Given the description of an element on the screen output the (x, y) to click on. 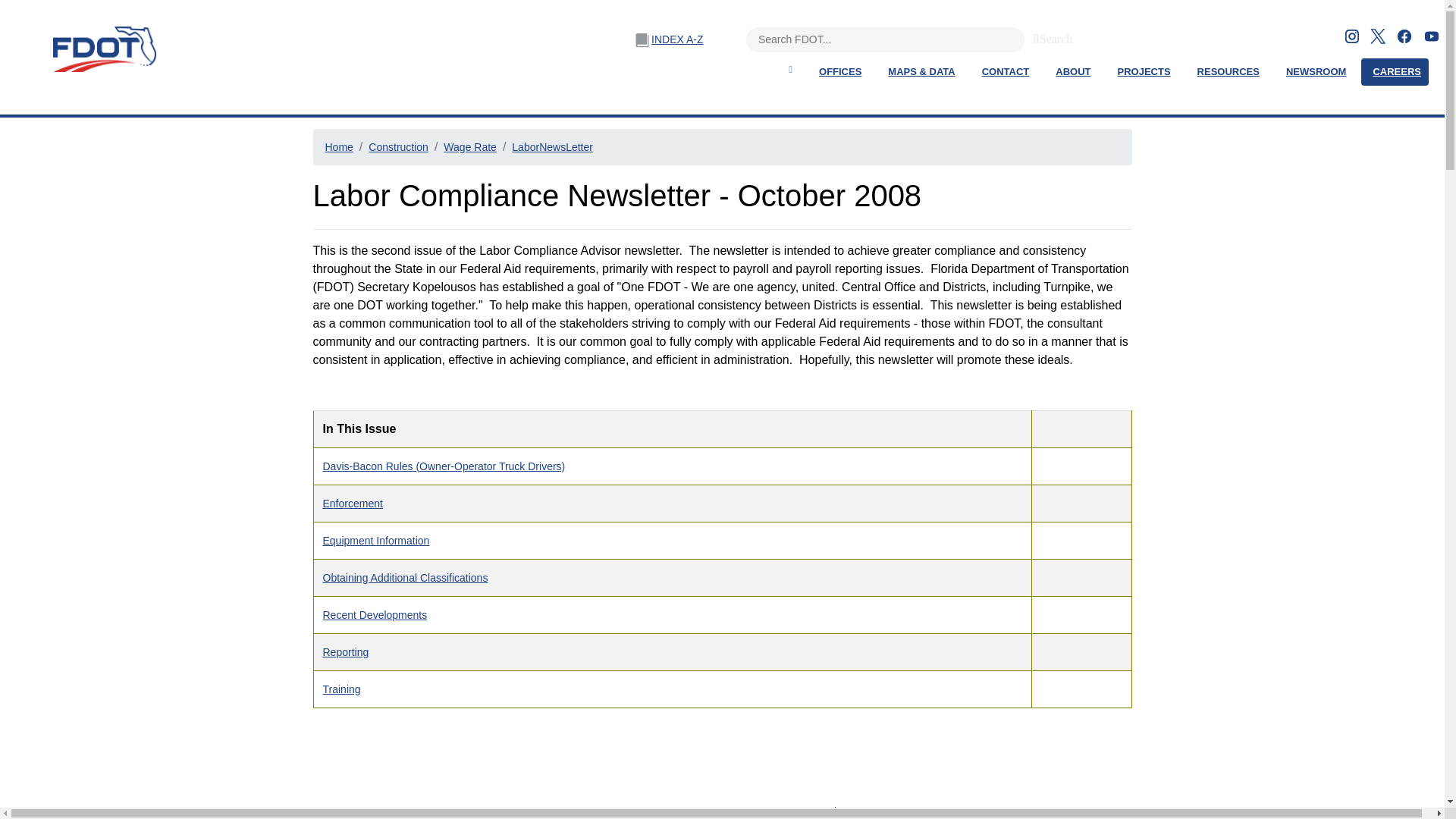
Instgram Icon (1351, 36)
Equipment Information (376, 539)
instgram (1351, 35)
X icon (1378, 36)
LaborNewsLetter (552, 146)
Back to Top (842, 811)
INDEX A-Z (676, 39)
ABOUT (1072, 71)
Wage Rate (470, 146)
Florida Department of Transportation Home Page (100, 49)
